Given the description of an element on the screen output the (x, y) to click on. 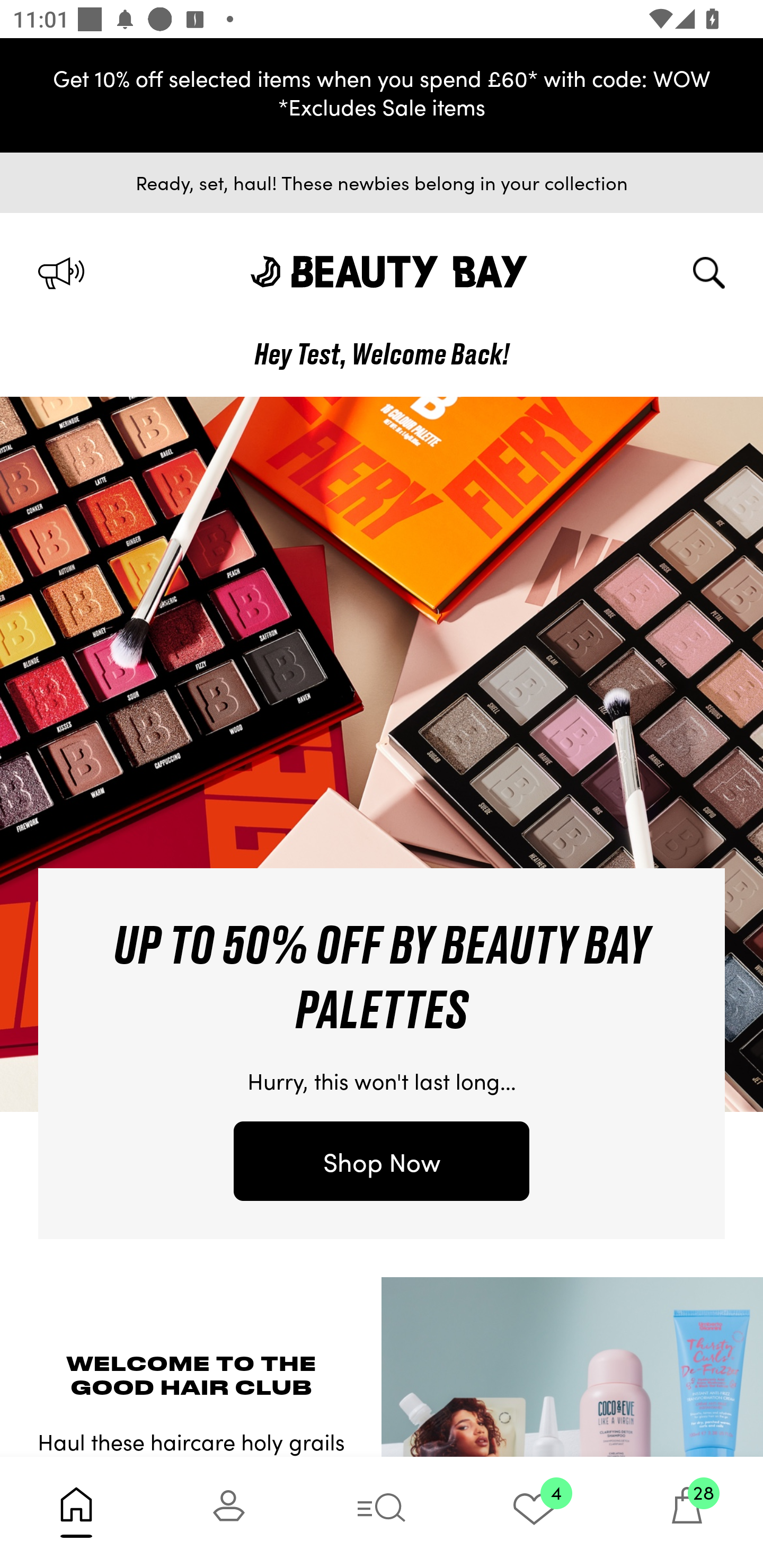
4 (533, 1512)
28 (686, 1512)
